Given the description of an element on the screen output the (x, y) to click on. 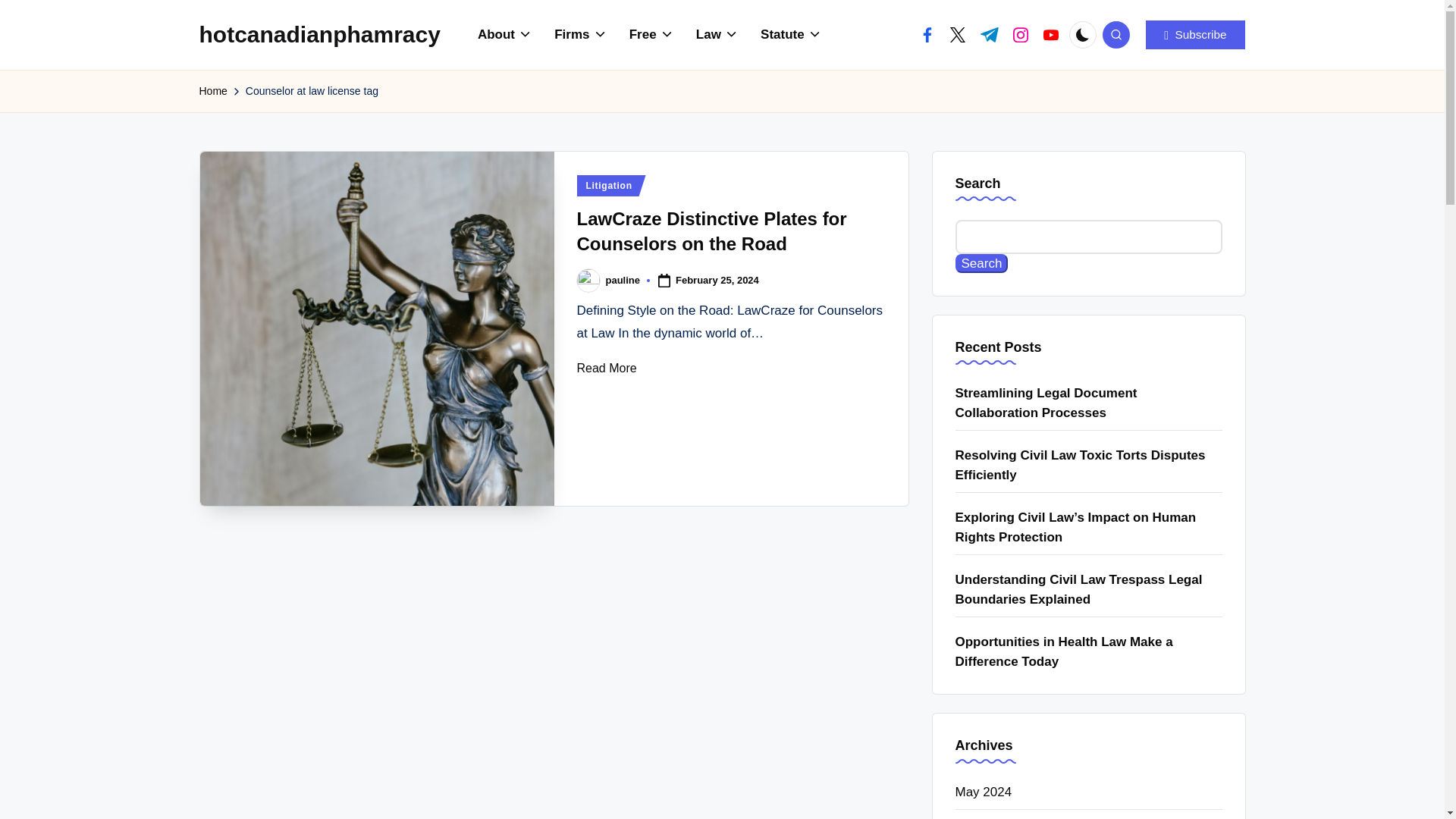
LawCraze Distinctive Plates for Counselors on the Road (377, 328)
hotcanadianphamracy (318, 34)
About (505, 34)
View all posts by pauline (622, 279)
LawCraze Distinctive Plates for Counselors on the Road (710, 231)
